Given the description of an element on the screen output the (x, y) to click on. 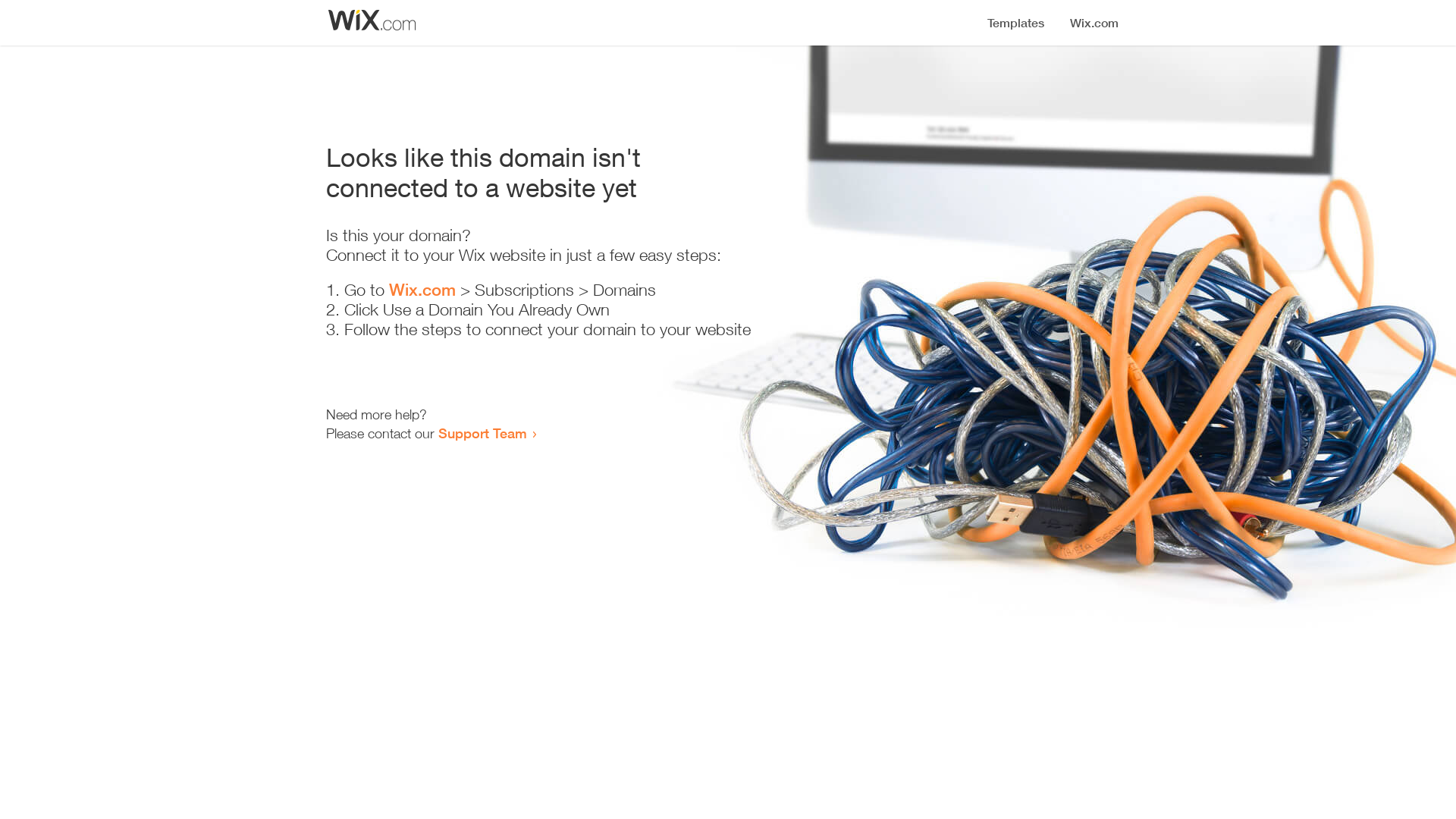
Support Team Element type: text (482, 432)
Wix.com Element type: text (422, 289)
